Given the description of an element on the screen output the (x, y) to click on. 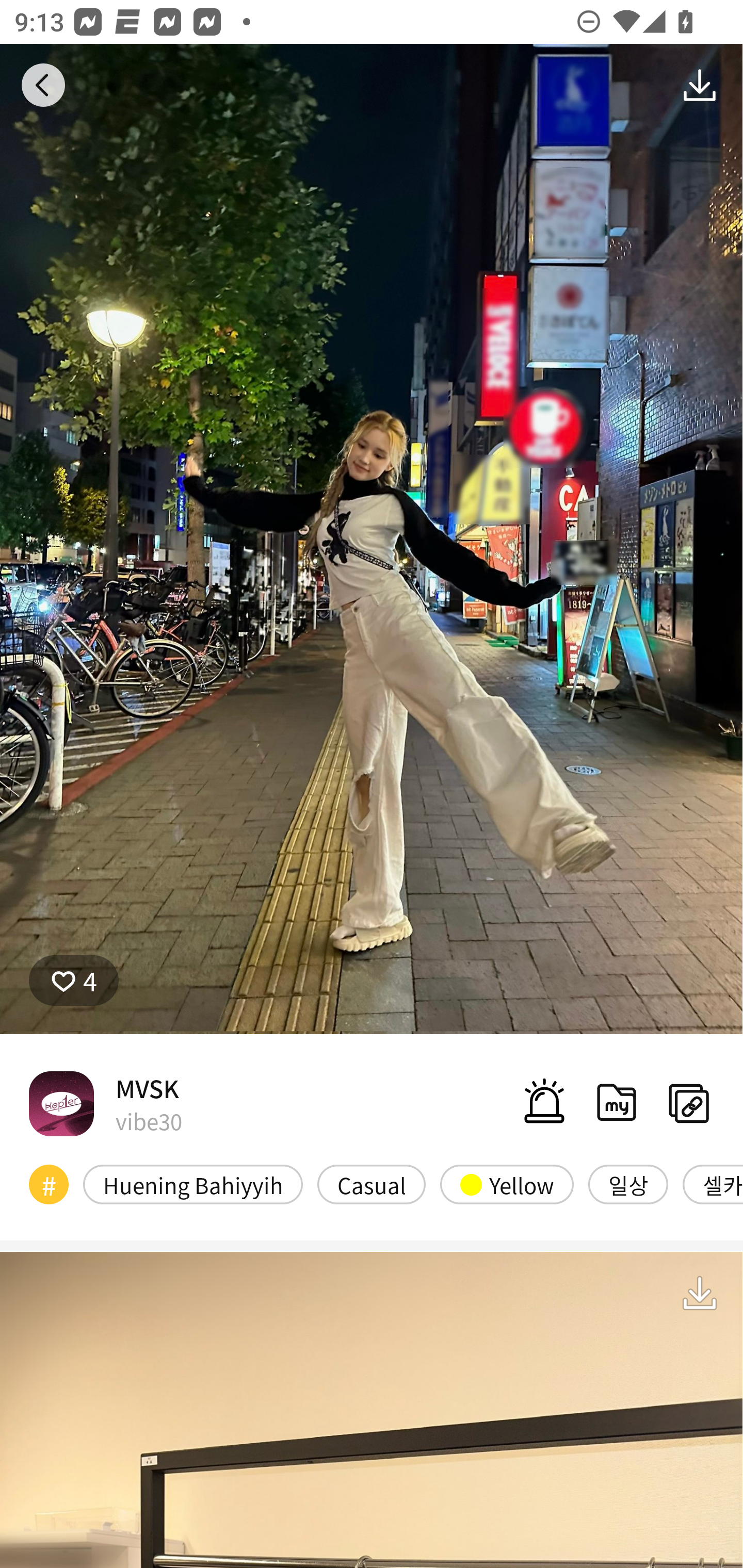
4 (73, 980)
MVSK vibe30 (105, 1102)
Huening Bahiyyih (193, 1184)
Casual (371, 1184)
Yellow (506, 1184)
일상 (627, 1184)
셀카 (712, 1184)
